Given the description of an element on the screen output the (x, y) to click on. 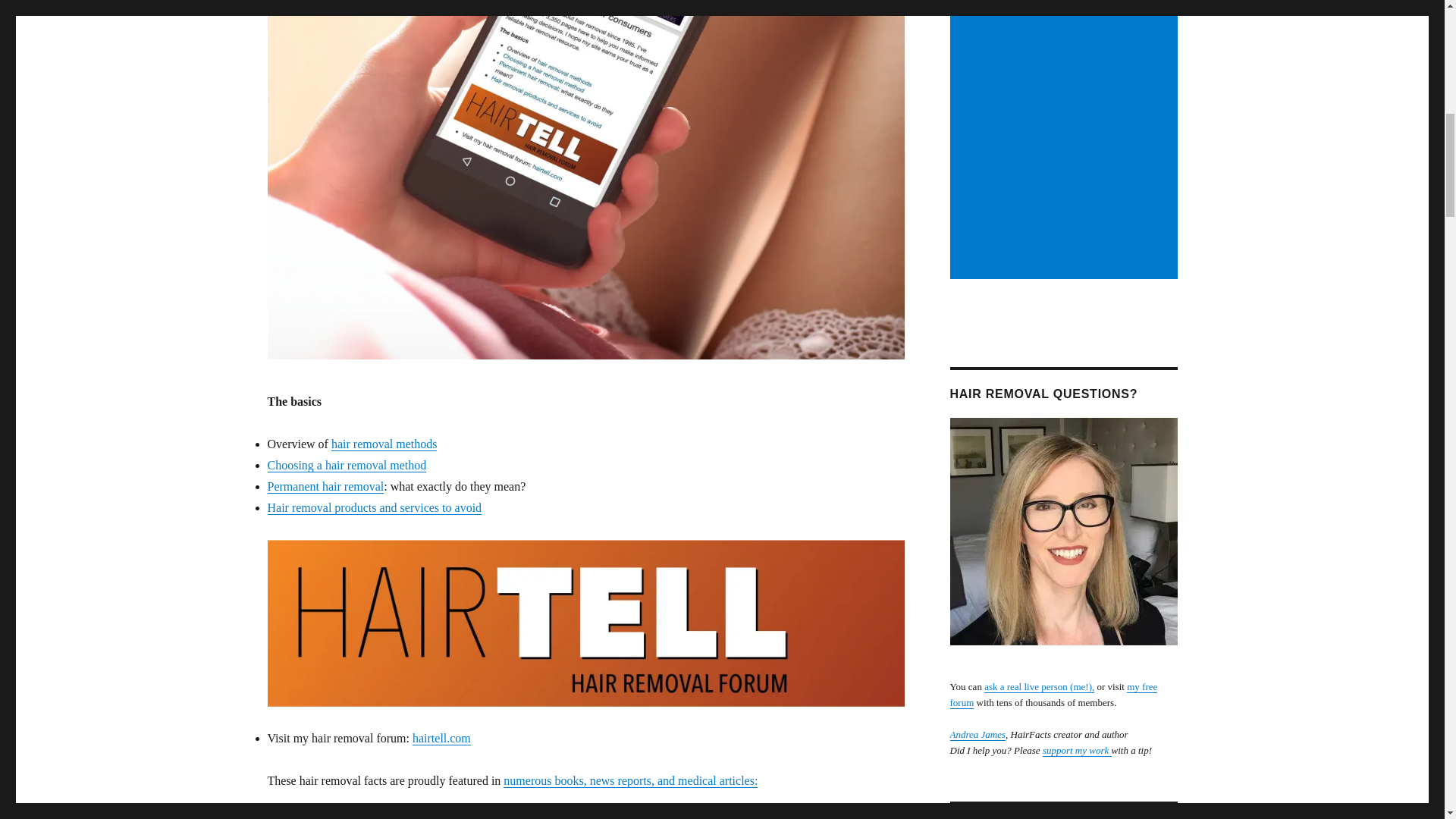
Choosing a method (346, 464)
